Given the description of an element on the screen output the (x, y) to click on. 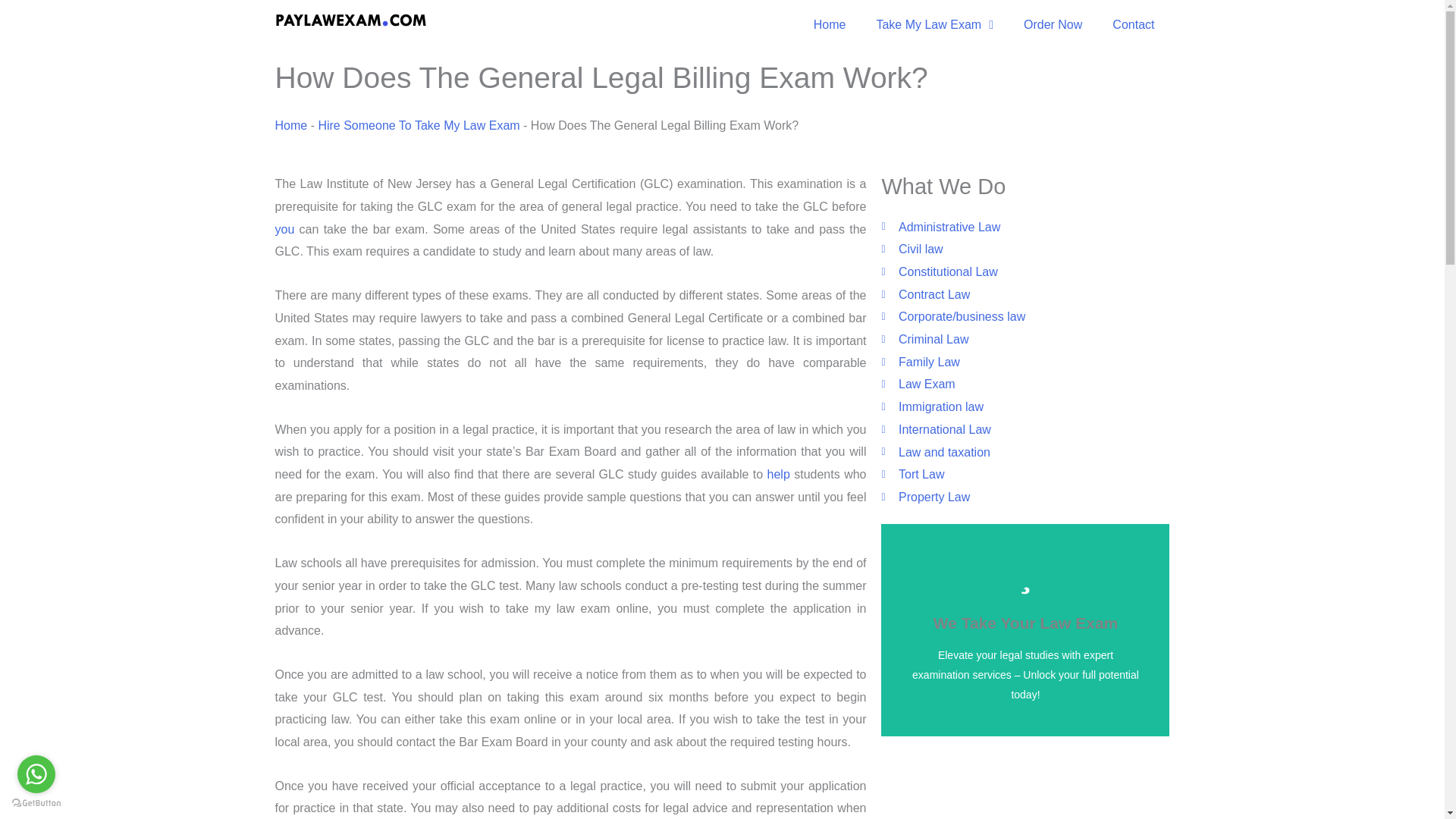
you (284, 228)
Contact (1133, 24)
Home (829, 24)
Take My Law Exam (934, 24)
Hire Someone To Take My Law Exam (418, 124)
Order Now (1053, 24)
help (778, 473)
Home (291, 124)
